Given the description of an element on the screen output the (x, y) to click on. 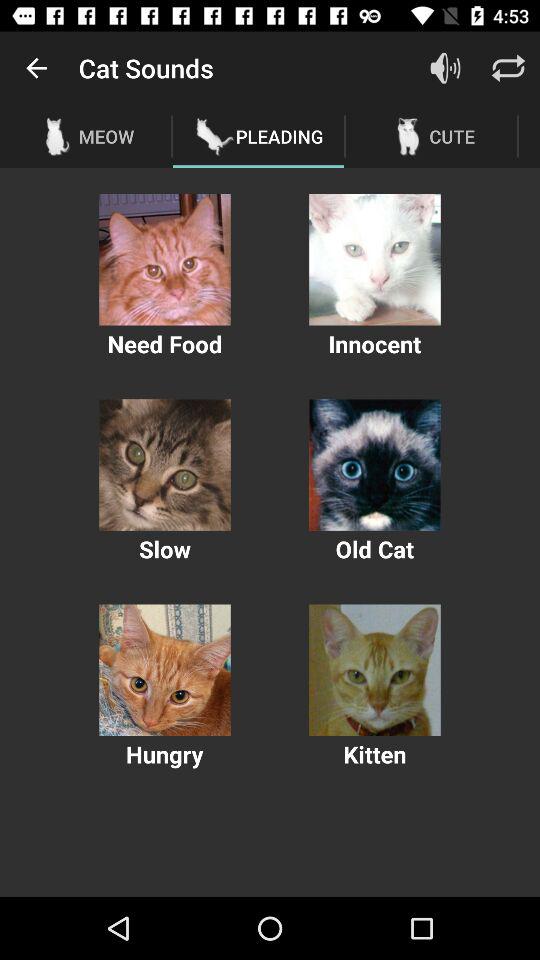
old cat sounds (374, 464)
